Given the description of an element on the screen output the (x, y) to click on. 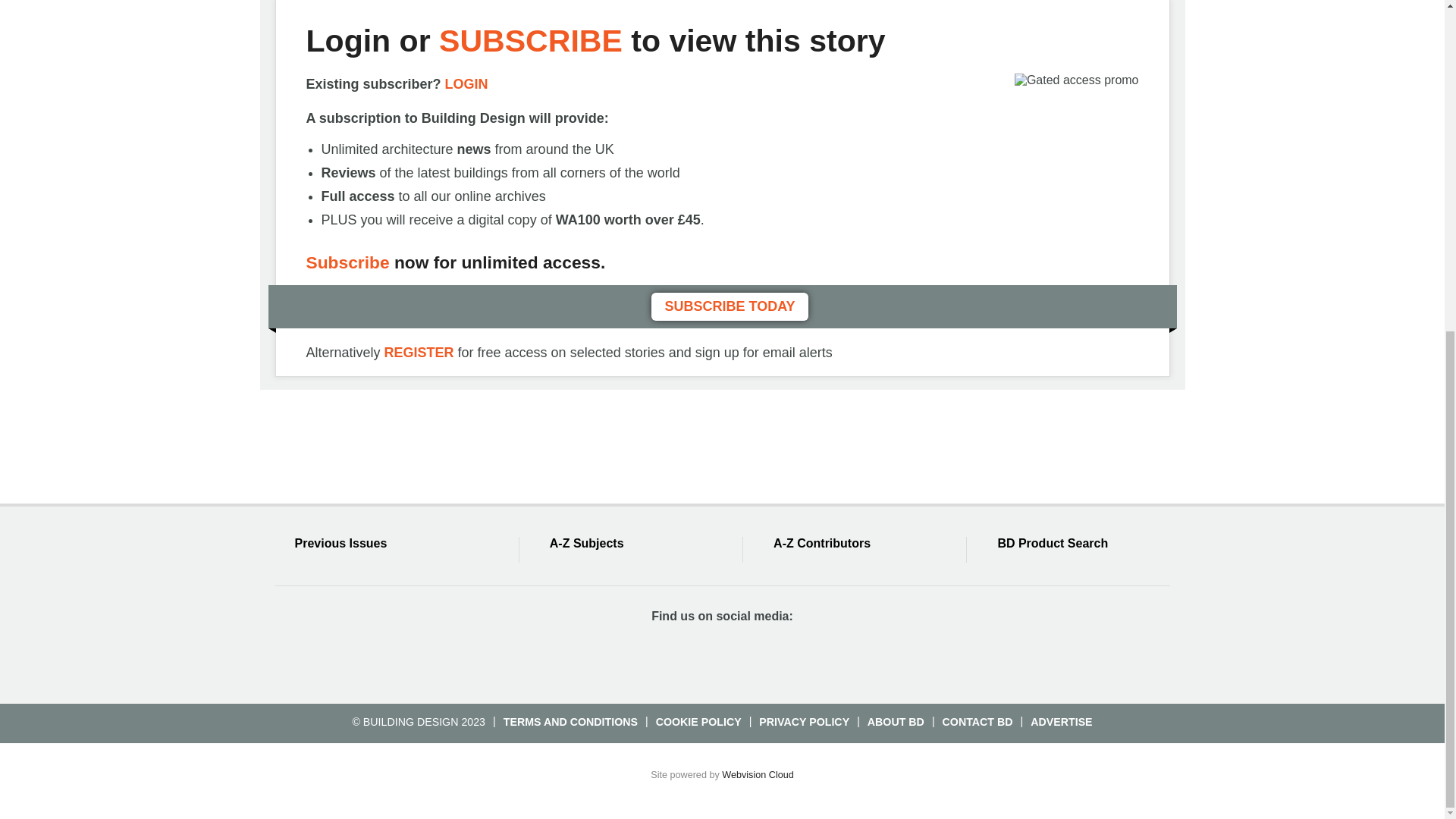
Connect with us on Linked in (750, 657)
Email us (804, 657)
Connect with us on Facebook (639, 657)
Connect with us on Twitter (694, 657)
